Given the description of an element on the screen output the (x, y) to click on. 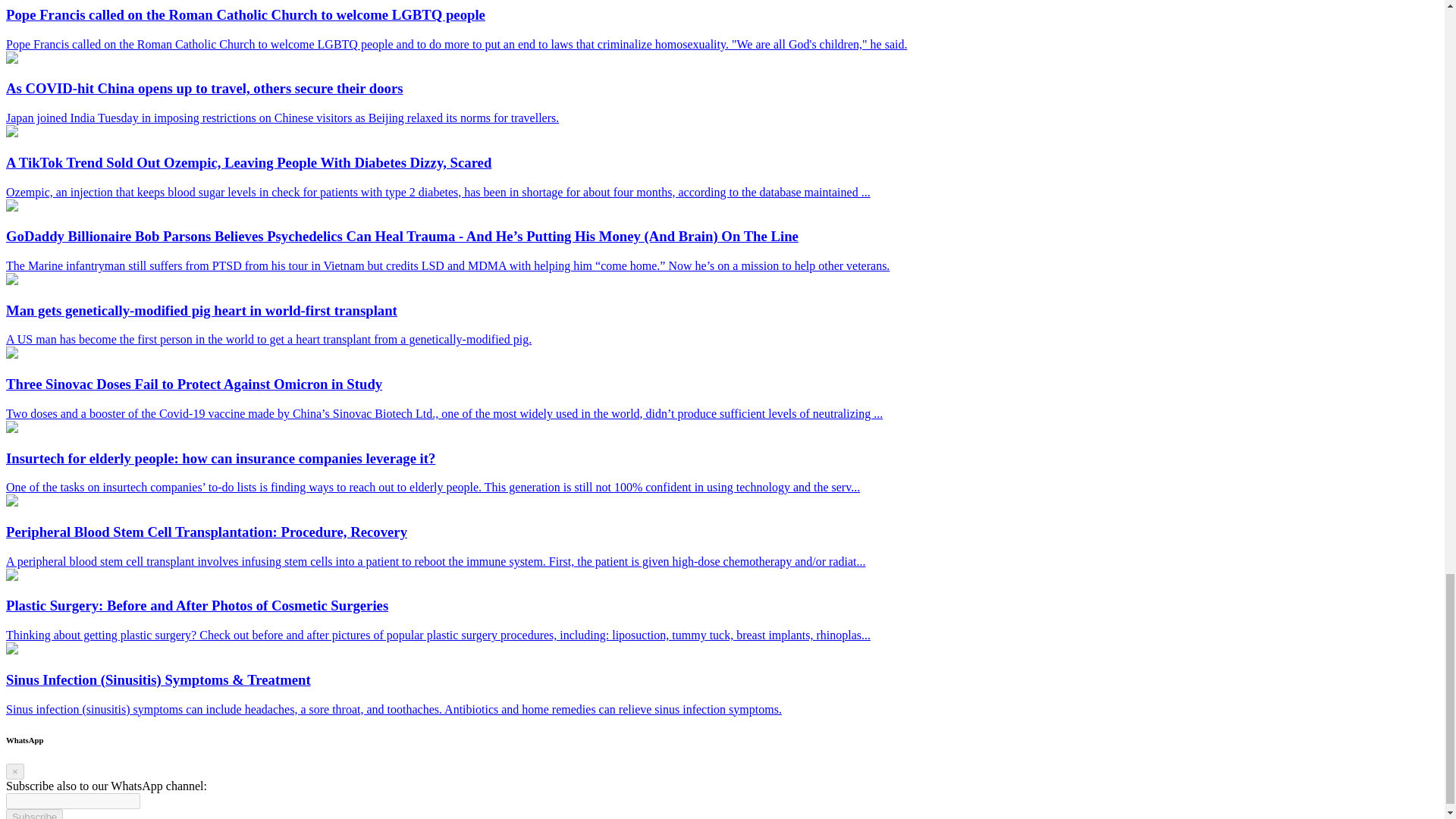
Three Sinovac Doses Fail to Protect Against Omicron in Study (11, 354)
